Given the description of an element on the screen output the (x, y) to click on. 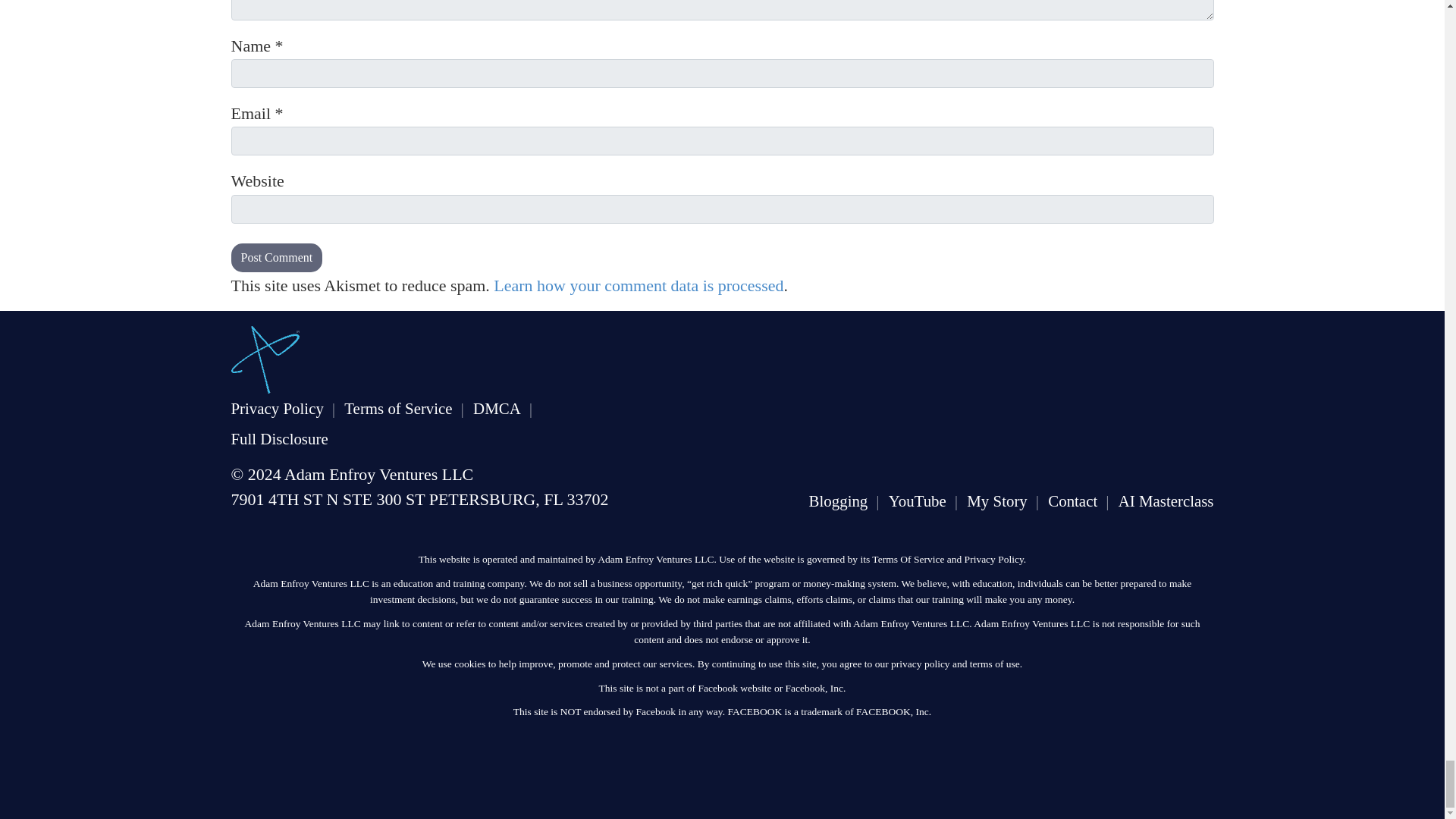
Post Comment (275, 256)
